Given the description of an element on the screen output the (x, y) to click on. 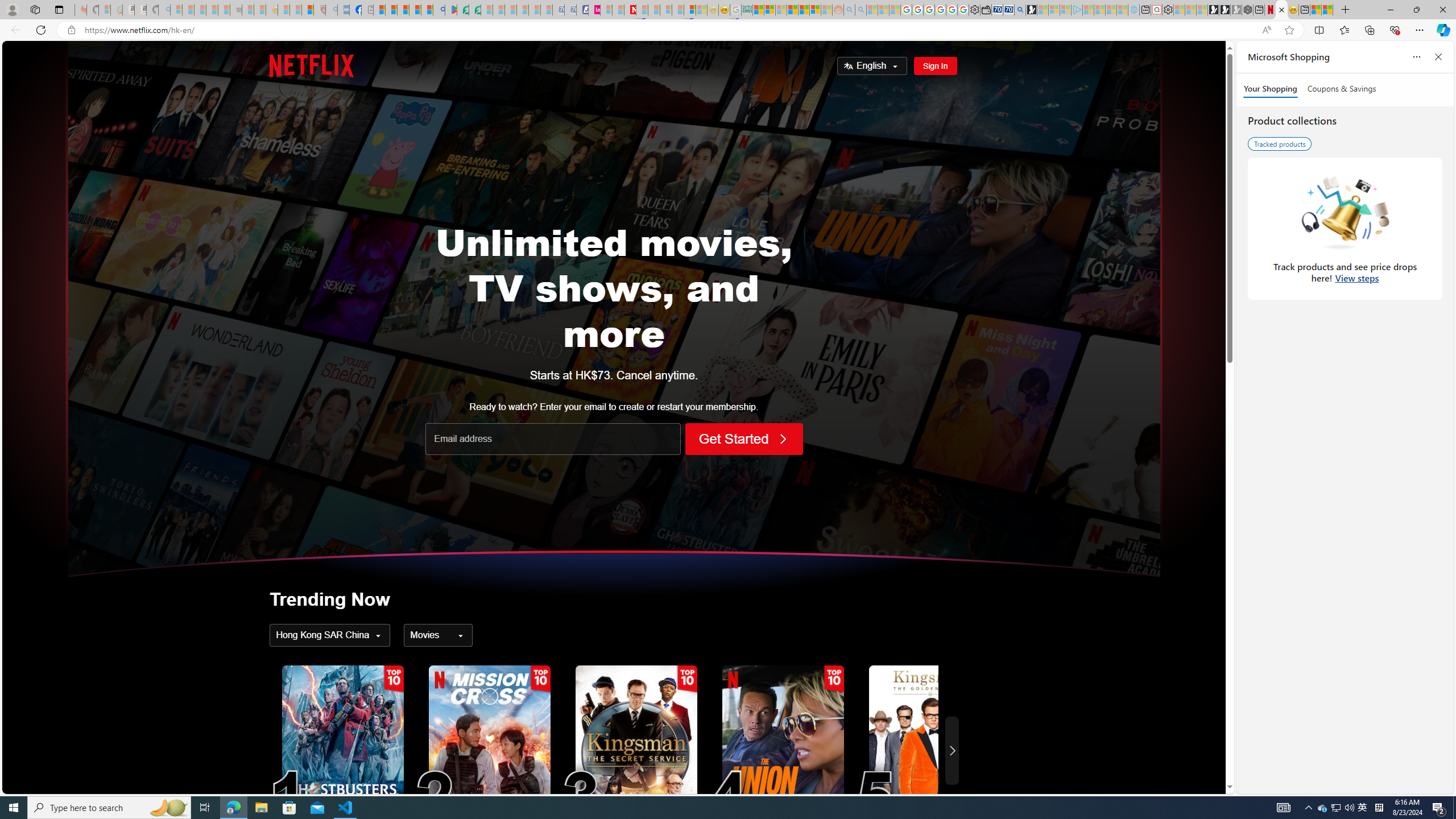
Expert Portfolios (792, 9)
